Given the description of an element on the screen output the (x, y) to click on. 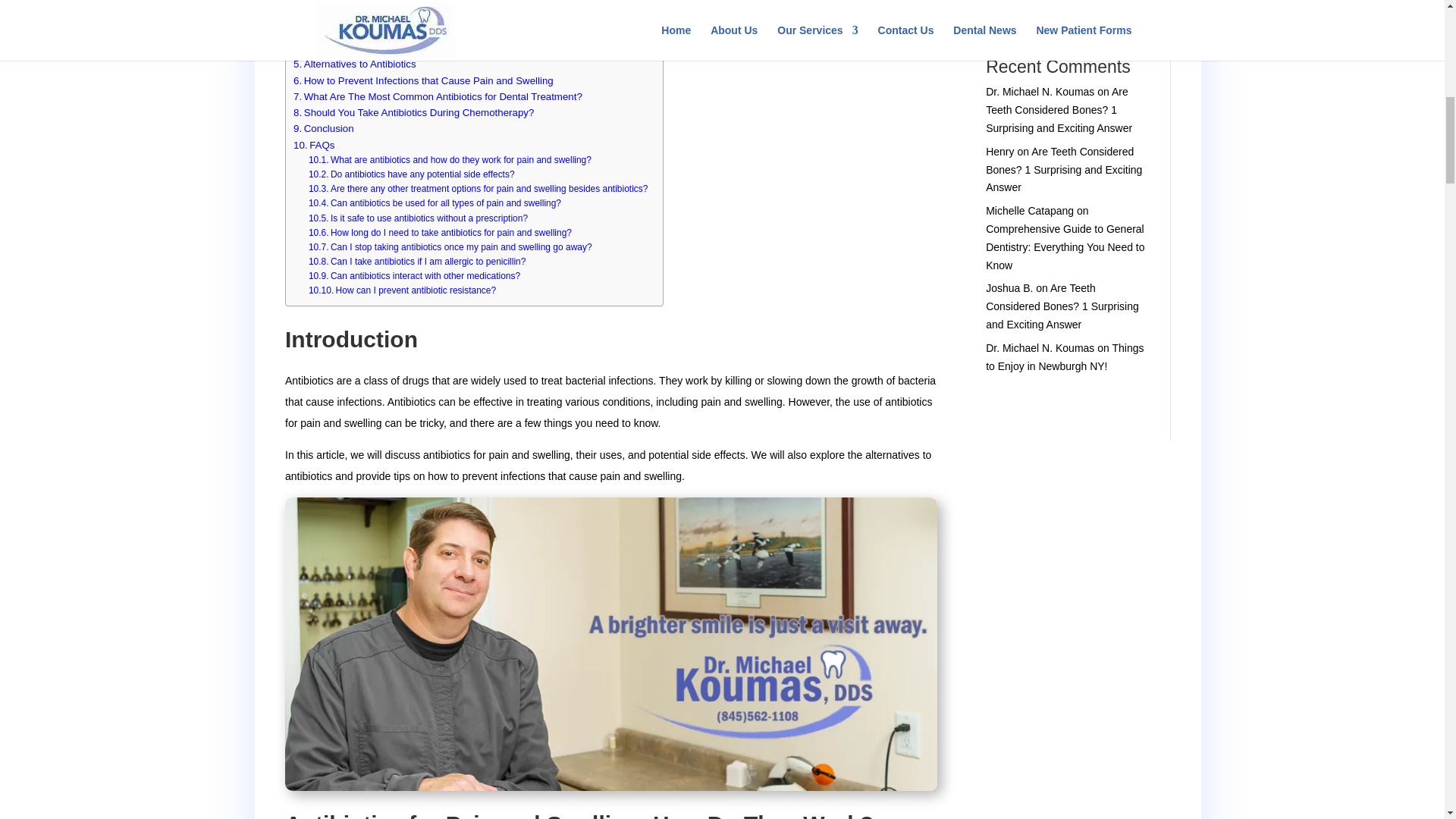
Do antibiotics have any potential side effects? (411, 174)
Is it safe to use antibiotics without a prescription? (417, 217)
Can antibiotics be used for all types of pain and swelling? (434, 203)
Do antibiotics have any potential side effects? (411, 174)
FAQs (314, 145)
Can antibiotics interact with other medications? (413, 276)
When Should You Take Antibiotics for Pain and Swelling? (426, 32)
Can antibiotics be used for all types of pain and swelling? (434, 203)
Antibiotics for Pain and Swelling: How Do They Work? (420, 16)
Alternatives to Antibiotics (355, 64)
Conclusion (323, 128)
Antibiotics for Pain and Swelling: How Do They Work? (420, 16)
